Given the description of an element on the screen output the (x, y) to click on. 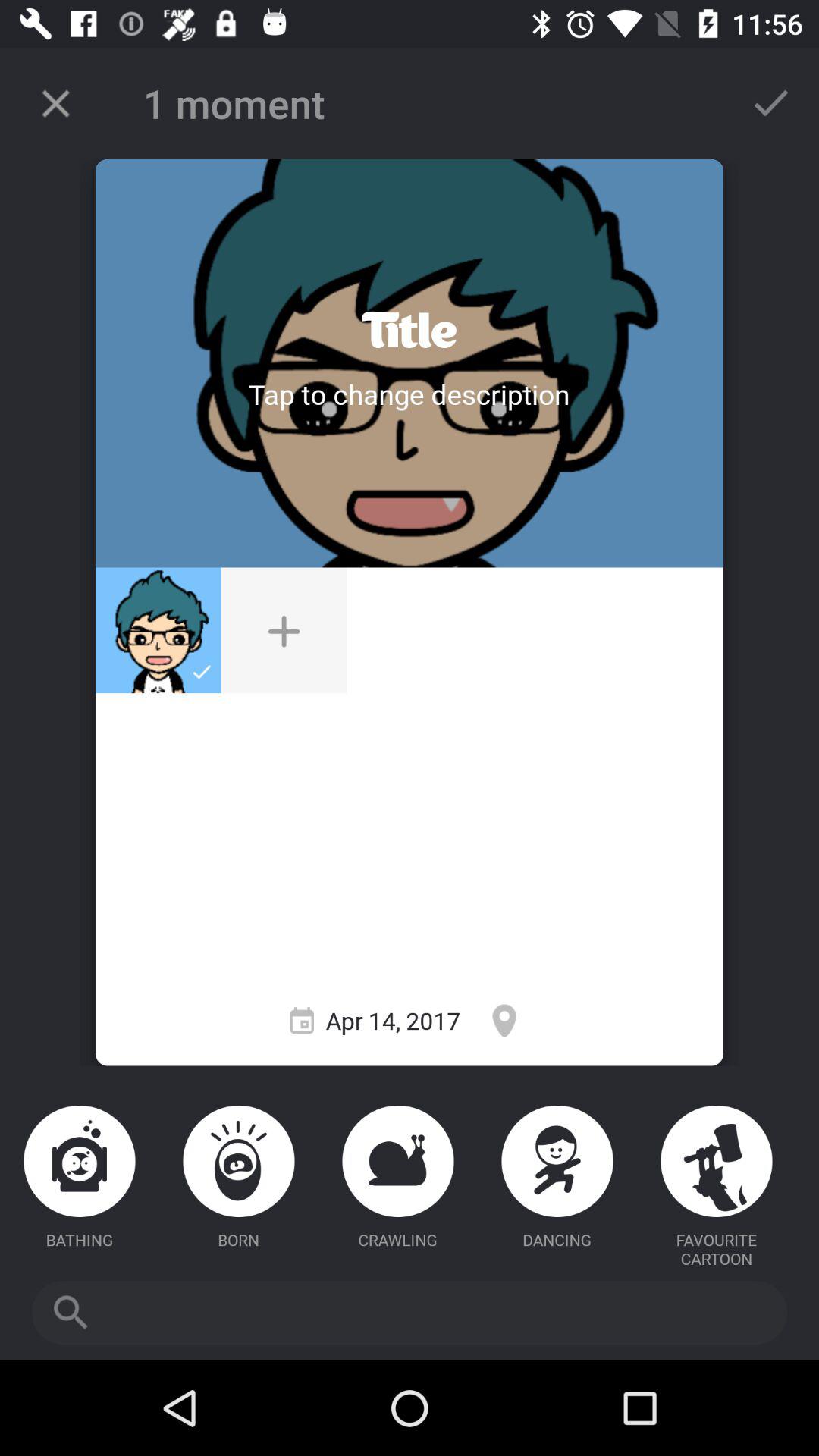
searching (409, 1312)
